Given the description of an element on the screen output the (x, y) to click on. 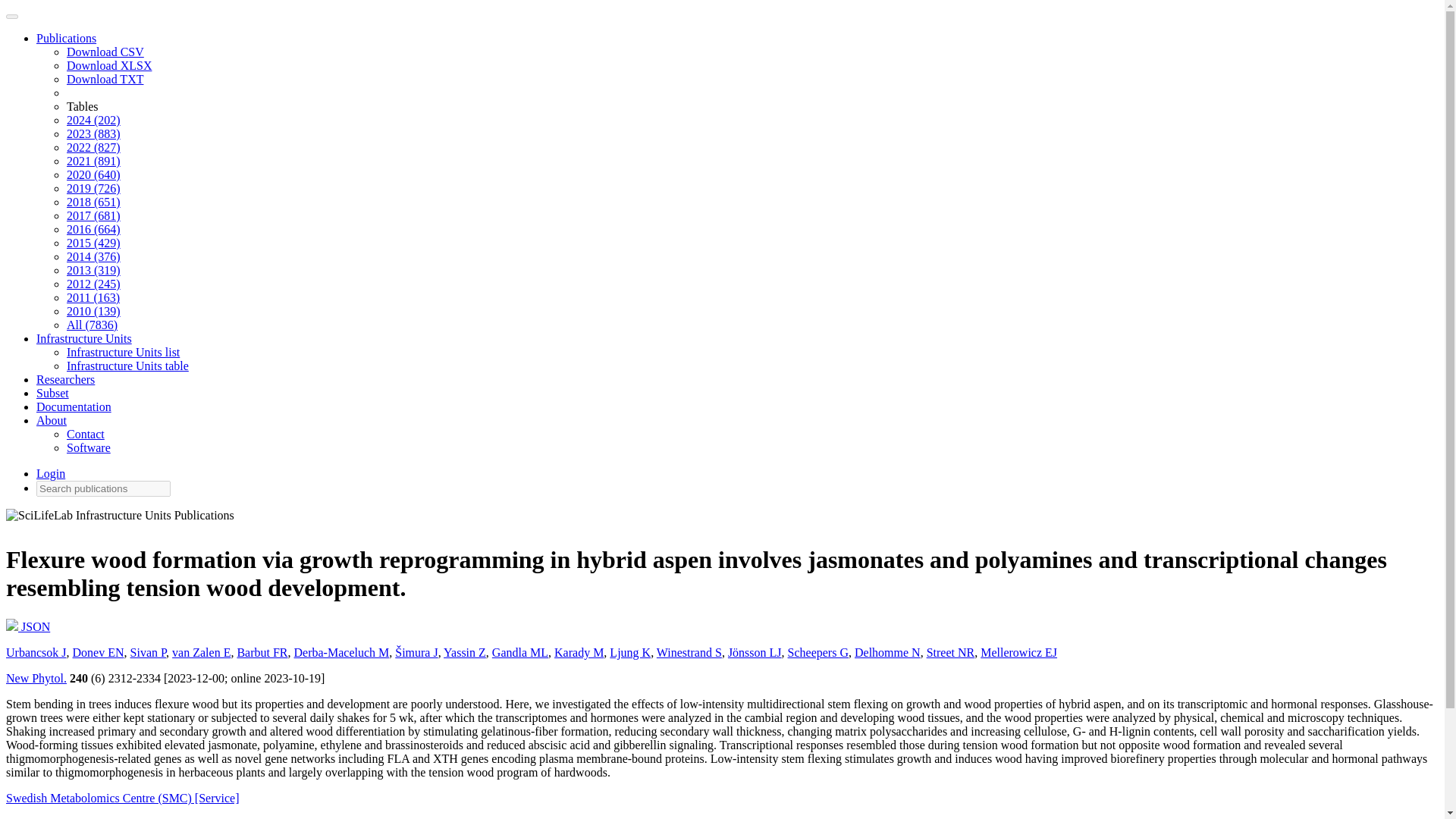
Publications (66, 38)
JSON (27, 626)
Infrastructure Units list (122, 351)
Donev EN (97, 652)
Download XLSX (108, 65)
Subset (52, 392)
Contact (85, 433)
Login (50, 472)
van Zalen E (200, 652)
SciLifeLab Infrastructure Units Publications (119, 518)
